Given the description of an element on the screen output the (x, y) to click on. 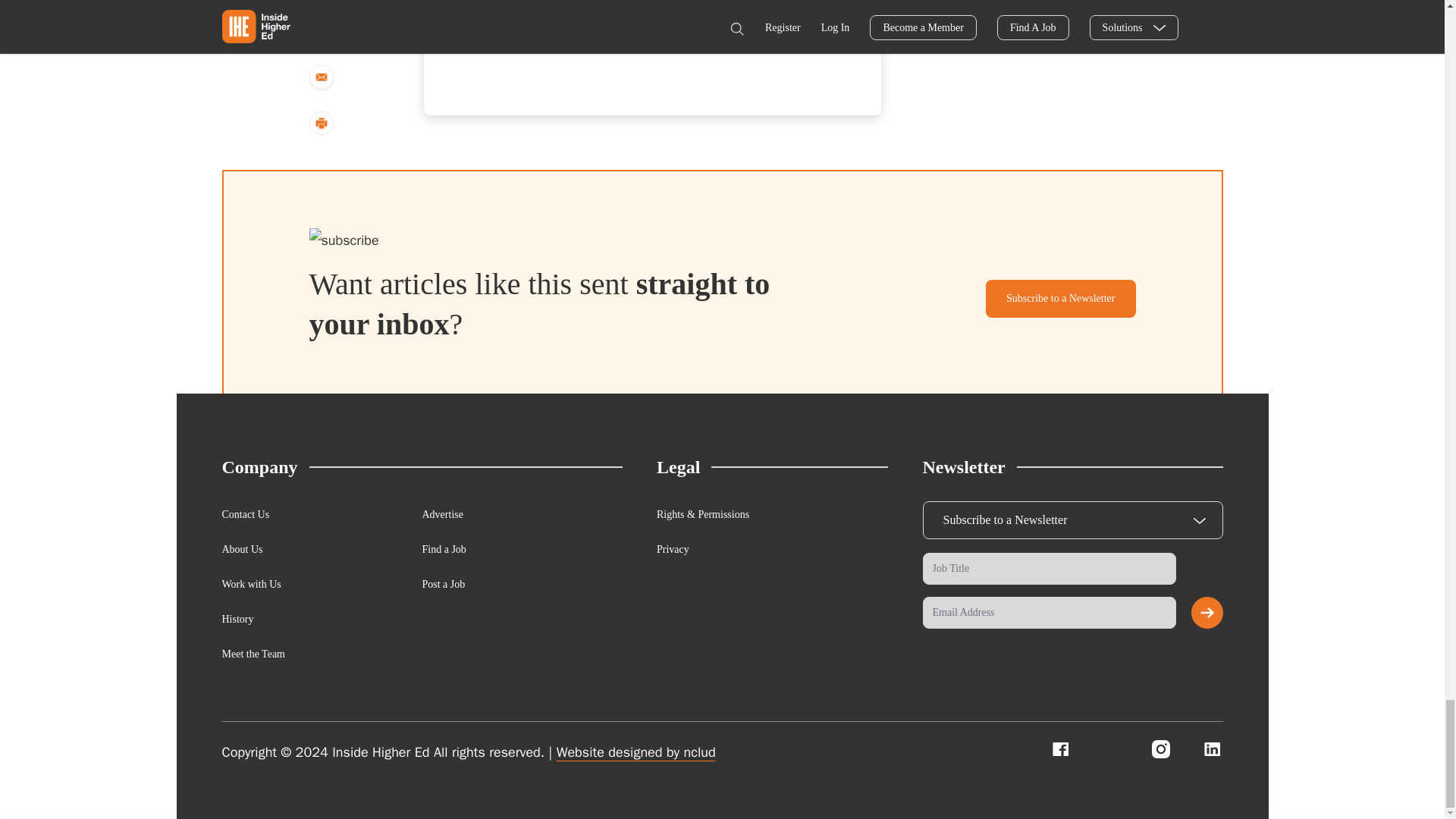
Submit (1207, 612)
